Given the description of an element on the screen output the (x, y) to click on. 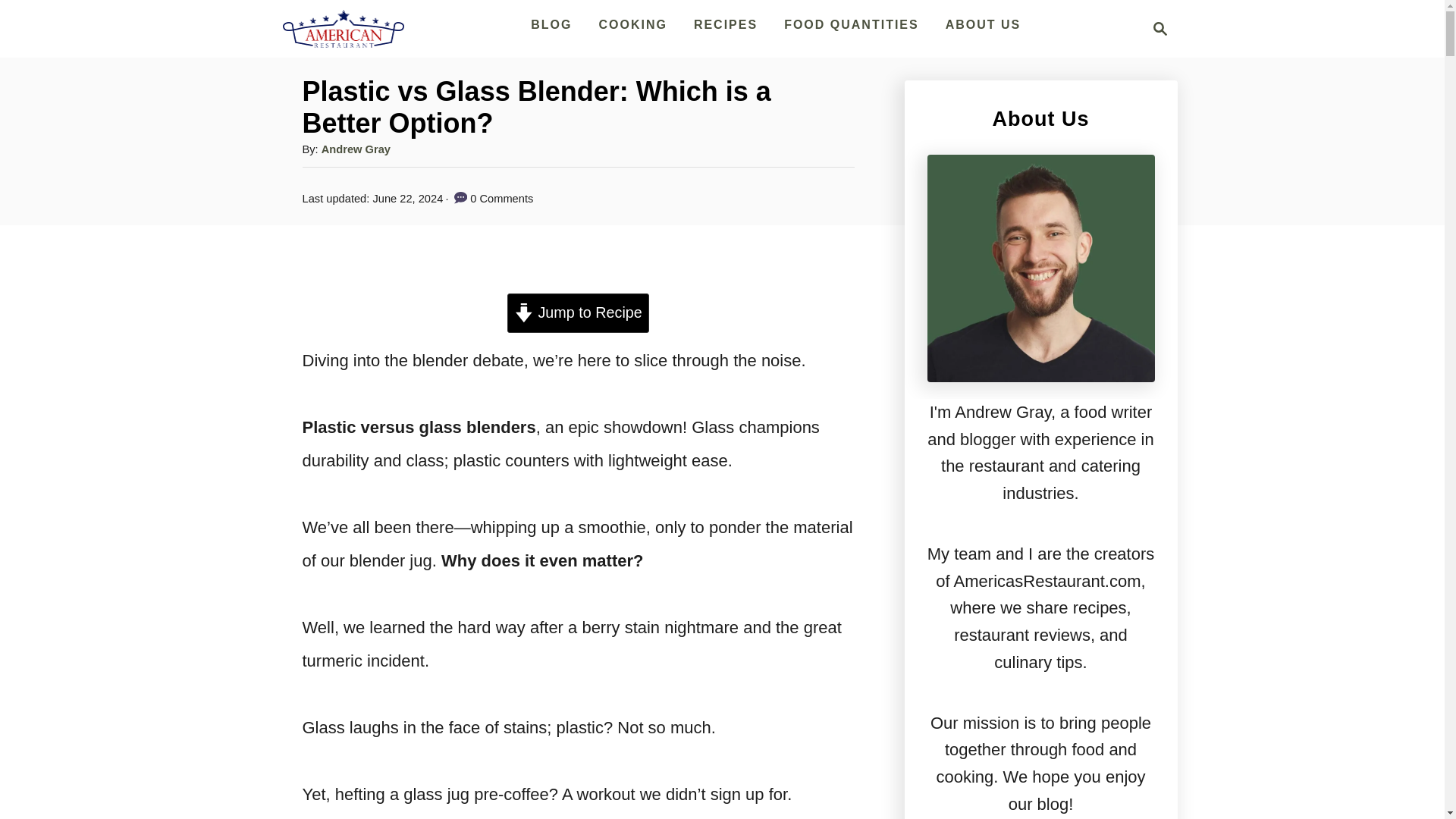
COOKING (632, 24)
ABOUT US (983, 24)
Magnifying Glass (1160, 28)
Jump to Recipe (577, 312)
Andrew Gray (355, 149)
RECIPES (725, 24)
FOOD QUANTITIES (1155, 28)
BLOG (851, 24)
